Given the description of an element on the screen output the (x, y) to click on. 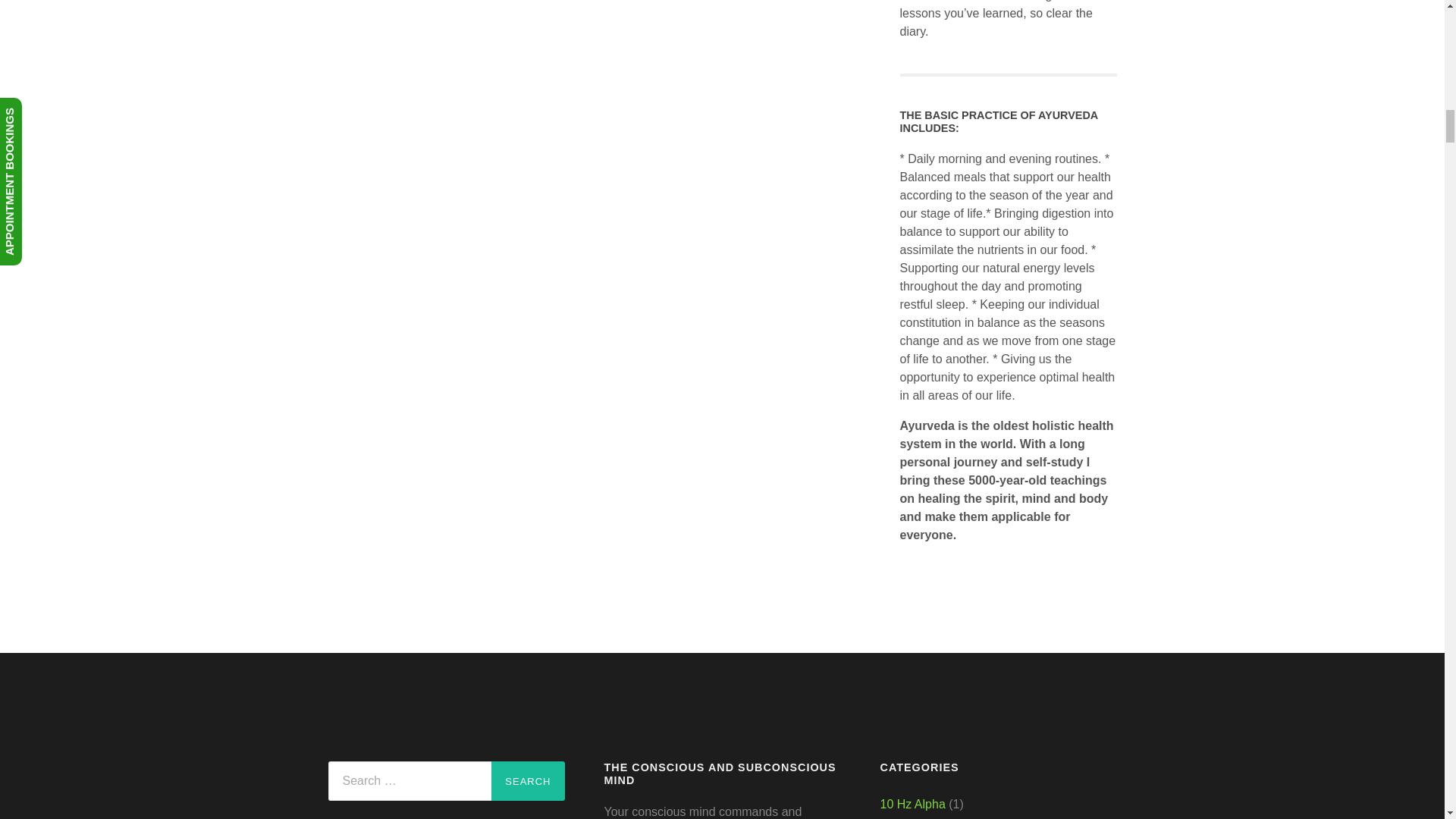
Search (528, 780)
Search (528, 780)
